Given the description of an element on the screen output the (x, y) to click on. 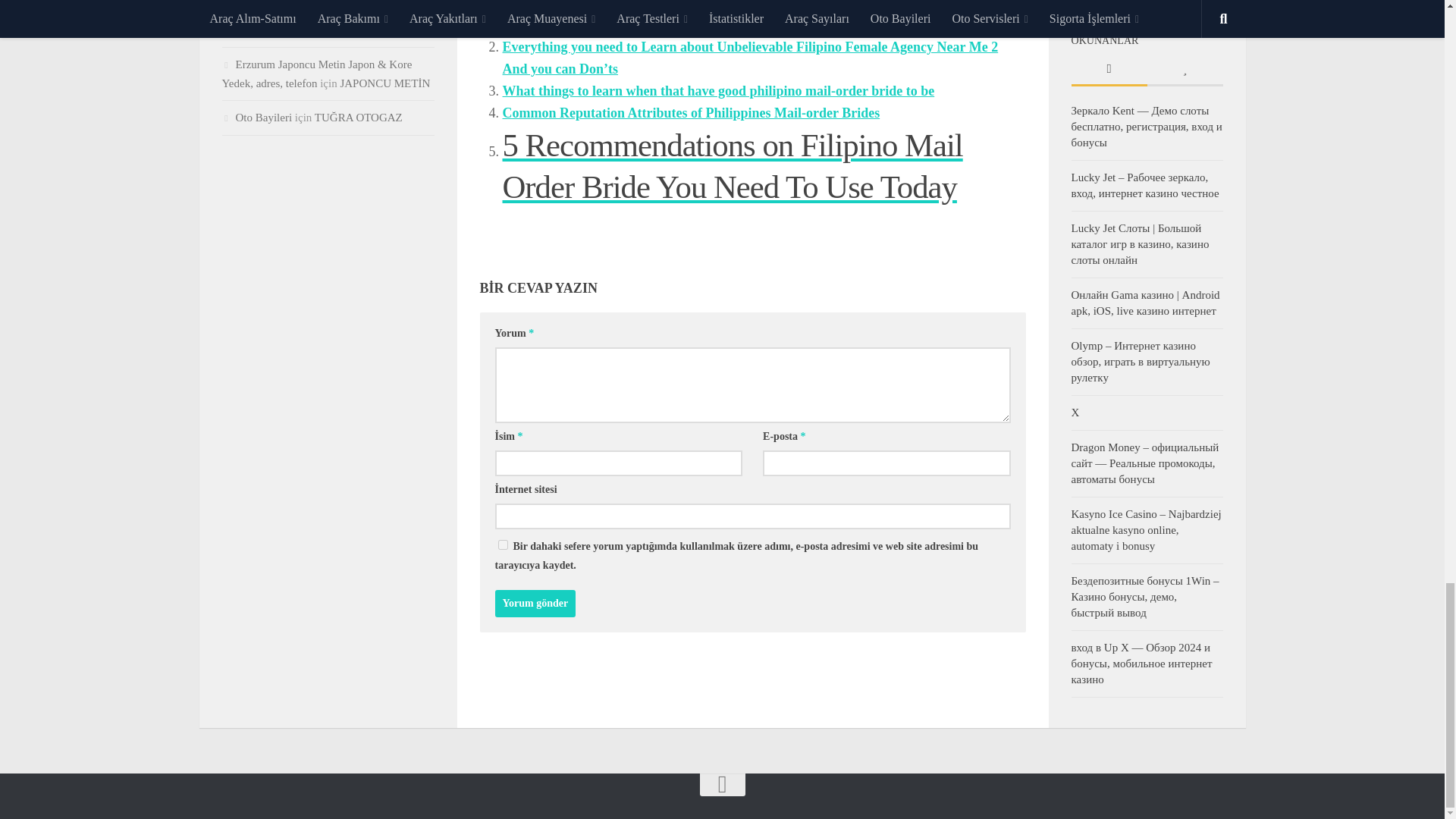
yes (501, 544)
